Given the description of an element on the screen output the (x, y) to click on. 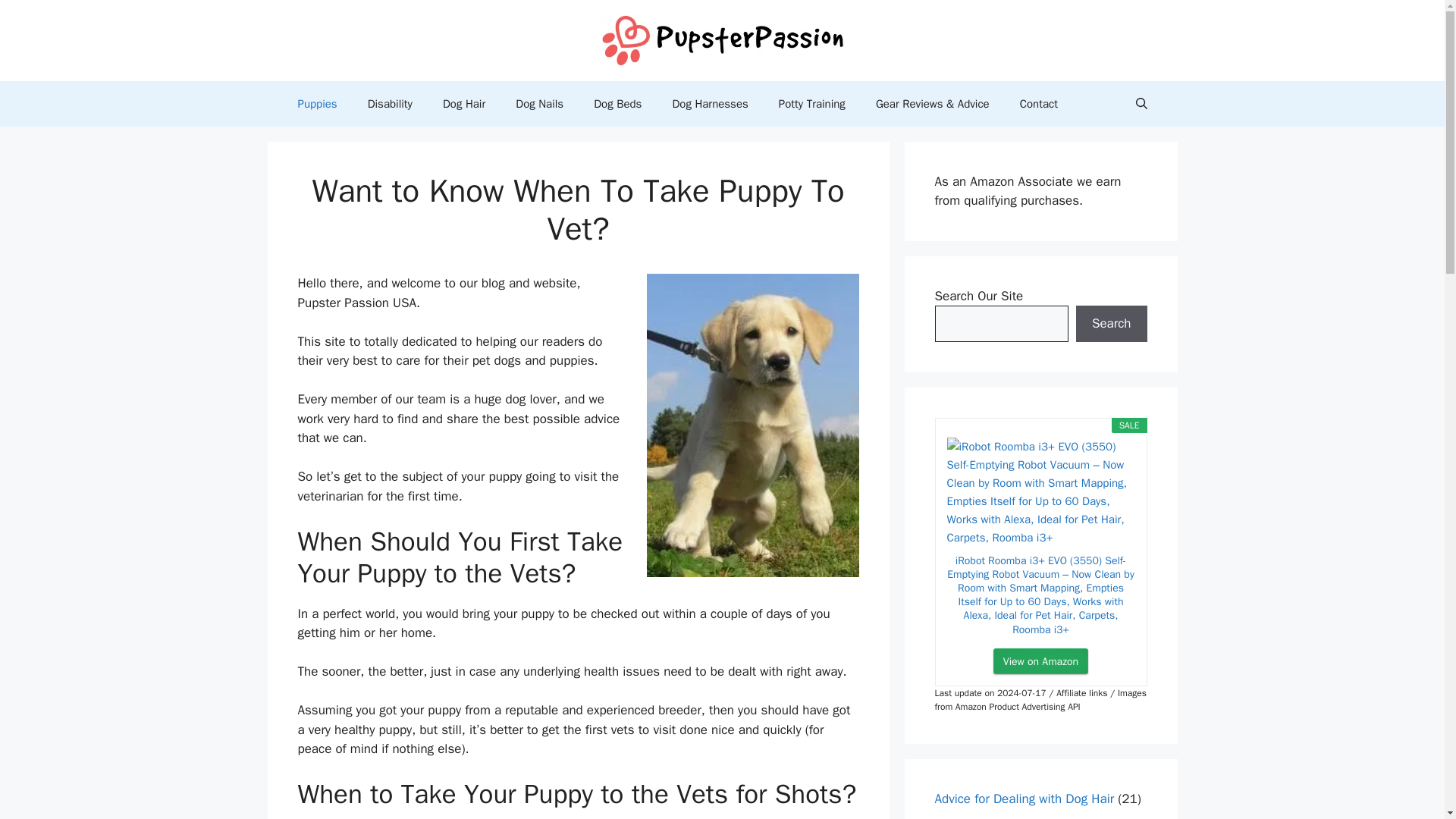
Dog Beds (617, 103)
Advice for Dealing with Dog Hair (1023, 798)
Disability (390, 103)
Potty Training (811, 103)
View on Amazon (1039, 661)
Dog Nails (539, 103)
View on Amazon (1039, 661)
Puppies (317, 103)
Search (1111, 323)
Dog Harnesses (709, 103)
Contact (1038, 103)
Dog Hair (464, 103)
